Given the description of an element on the screen output the (x, y) to click on. 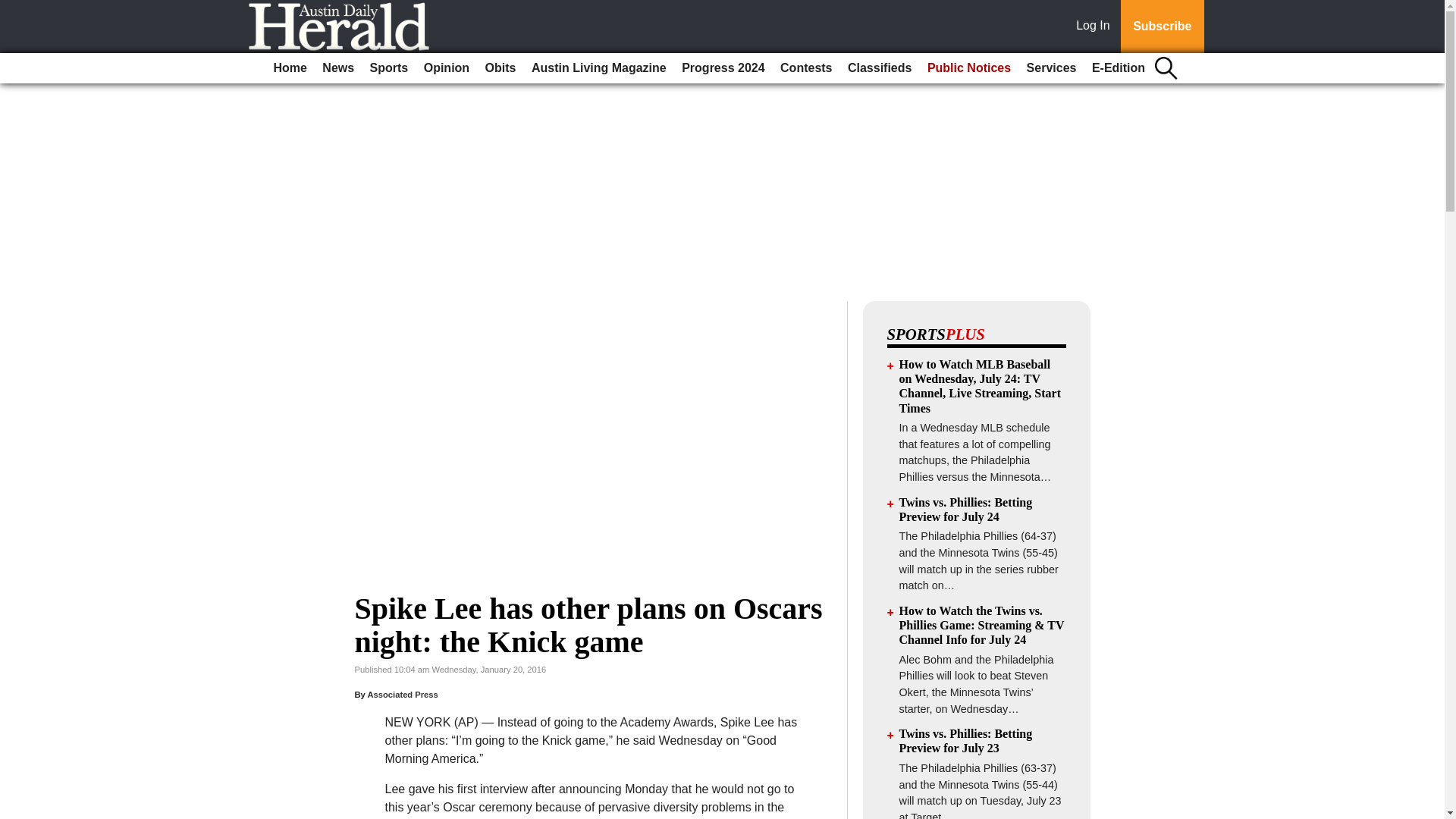
Classifieds (879, 68)
Log In (1095, 26)
Contests (806, 68)
Opinion (446, 68)
Austin Living Magazine (598, 68)
Public Notices (968, 68)
Progress 2024 (722, 68)
Obits (500, 68)
News (337, 68)
Home (289, 68)
Services (1051, 68)
Sports (389, 68)
Subscribe (1162, 26)
